Given the description of an element on the screen output the (x, y) to click on. 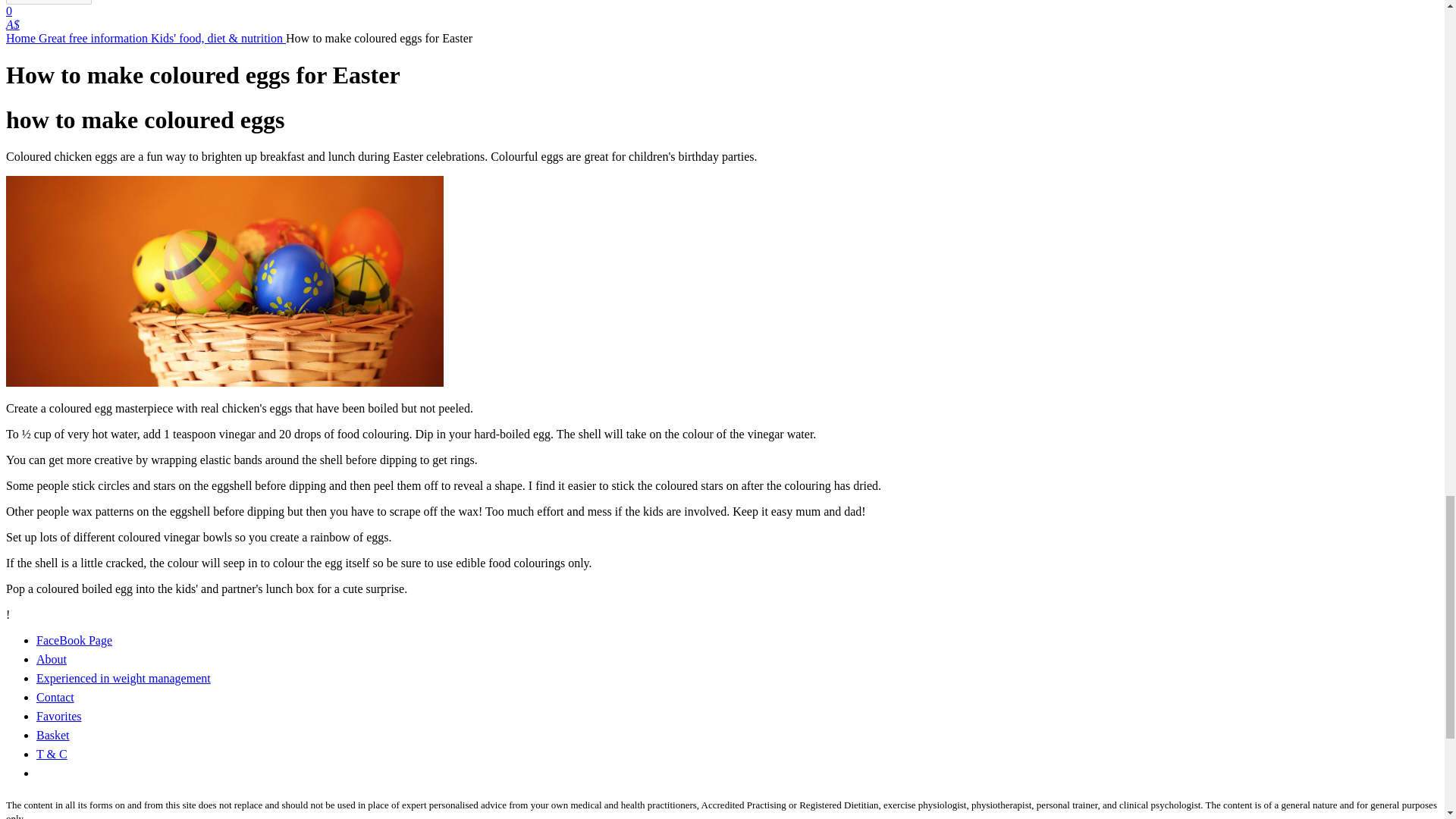
FaceBook Page (74, 640)
Contact (55, 697)
Find out who is behind foodtalk (51, 658)
About (51, 658)
Great free information (95, 38)
Home (22, 38)
Great free information (95, 38)
Experienced in weight management (123, 677)
Select your currency (12, 24)
Big experience in weight management: loss and maintenance (123, 677)
Basket (52, 735)
colour real chicken eggs for Easter (224, 281)
Favorites (58, 716)
Home  (22, 38)
